Given the description of an element on the screen output the (x, y) to click on. 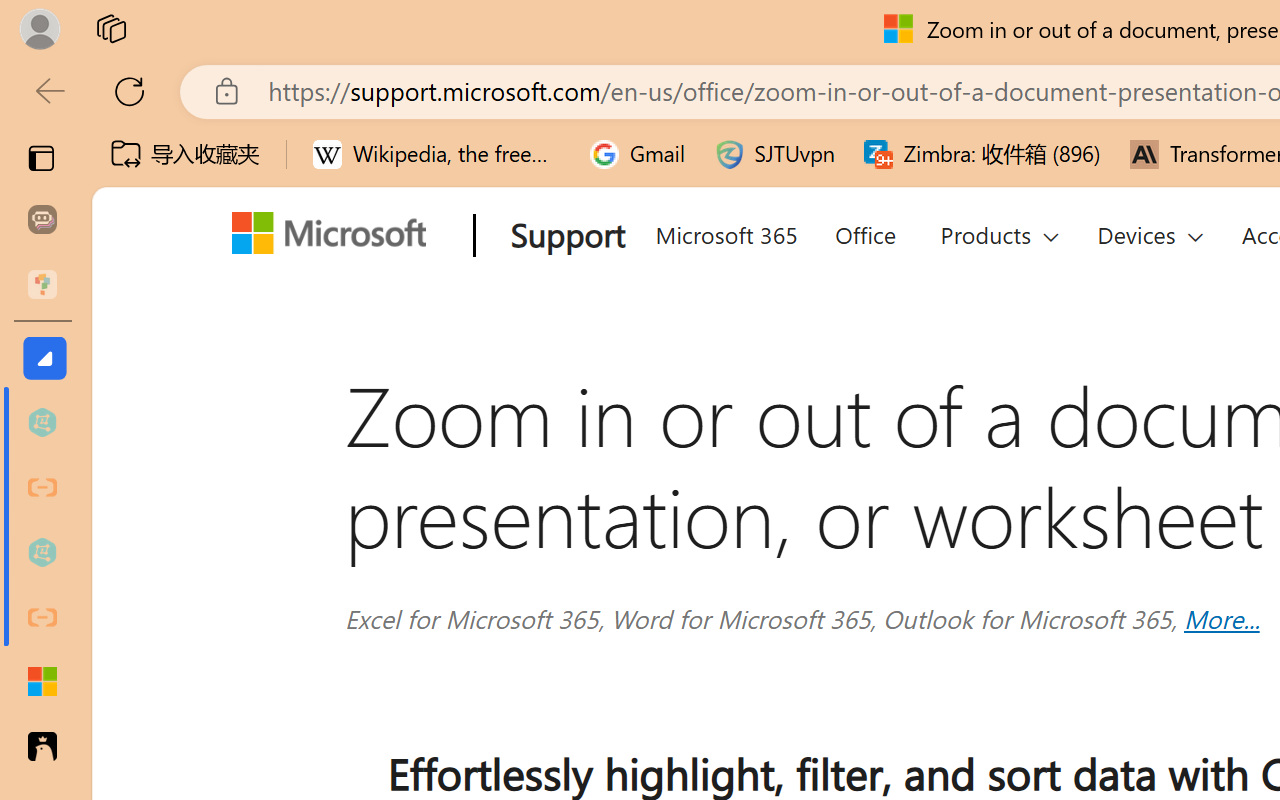
Wikipedia, the free encyclopedia (437, 154)
SJTUvpn (774, 154)
Microsoft (335, 237)
Adjust indents and spacing - Microsoft Support (42, 681)
Support (563, 237)
